Given the description of an element on the screen output the (x, y) to click on. 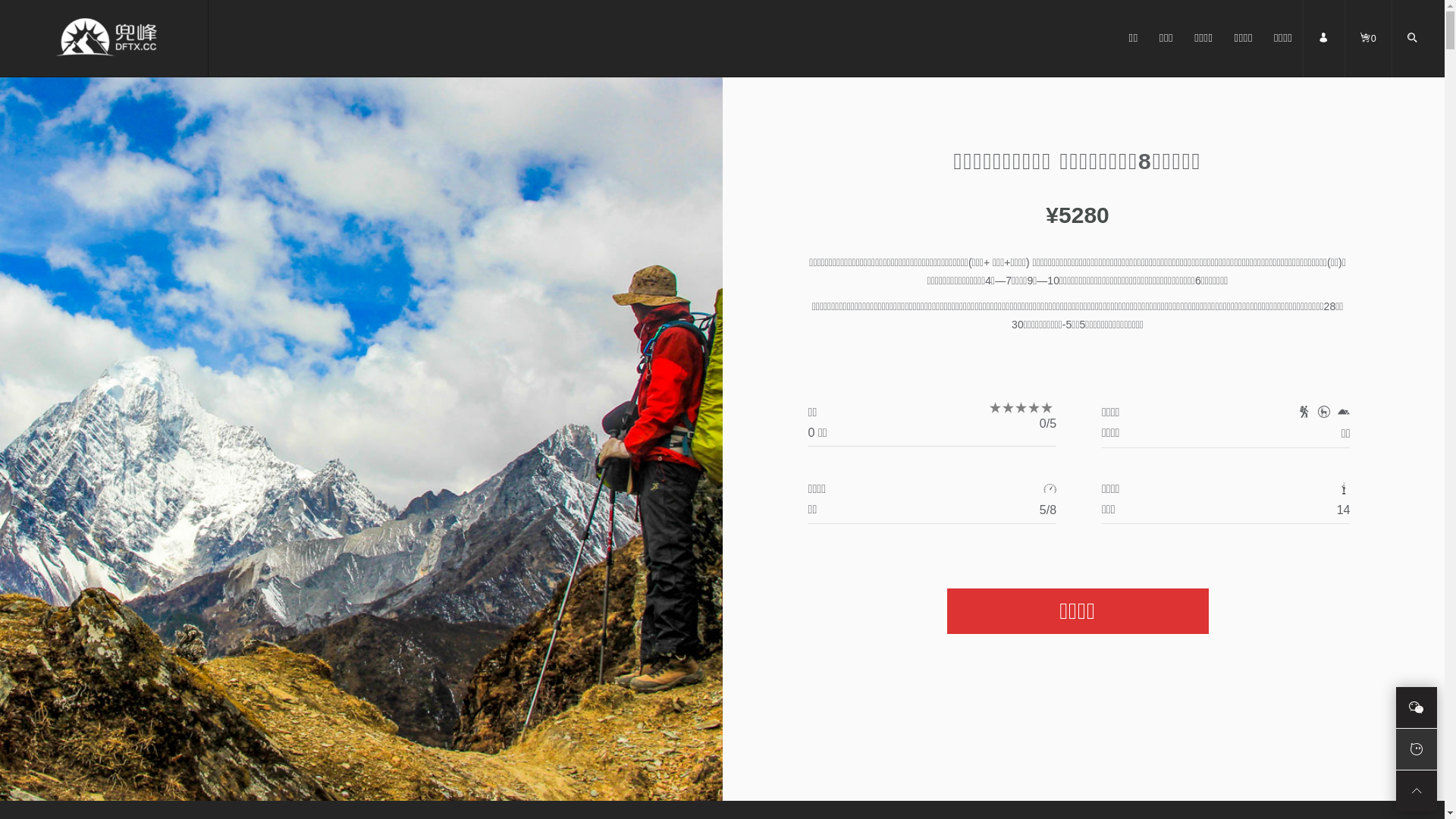
0 Element type: text (1368, 53)
